Given the description of an element on the screen output the (x, y) to click on. 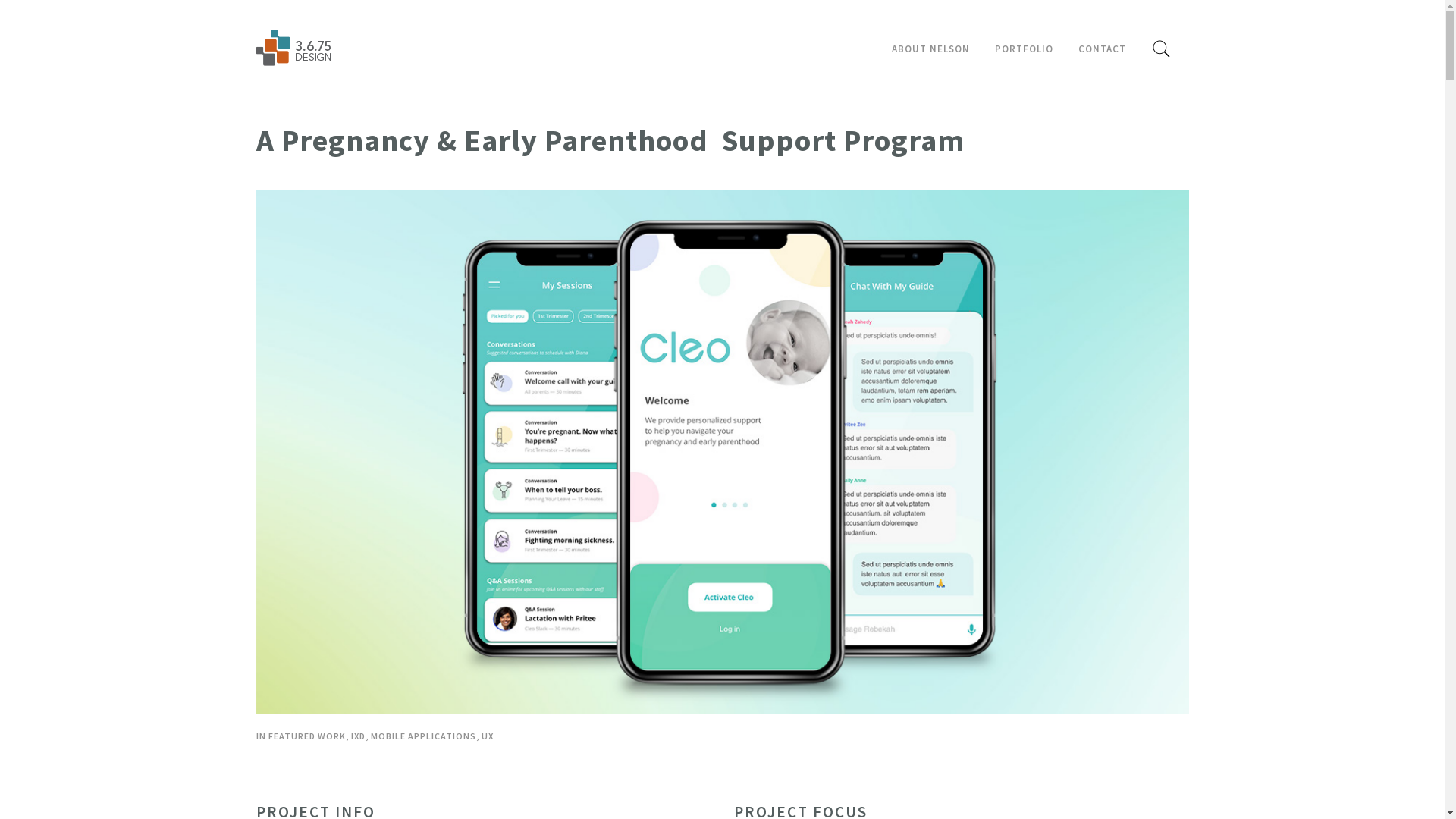
FEATURED WORK Element type: text (306, 735)
CONTACT Element type: text (1101, 49)
MOBILE APPLICATIONS Element type: text (422, 735)
PORTFOLIO Element type: text (1022, 49)
IXD Element type: text (357, 735)
UX Element type: text (486, 735)
ABOUT NELSON Element type: text (929, 49)
